Given the description of an element on the screen output the (x, y) to click on. 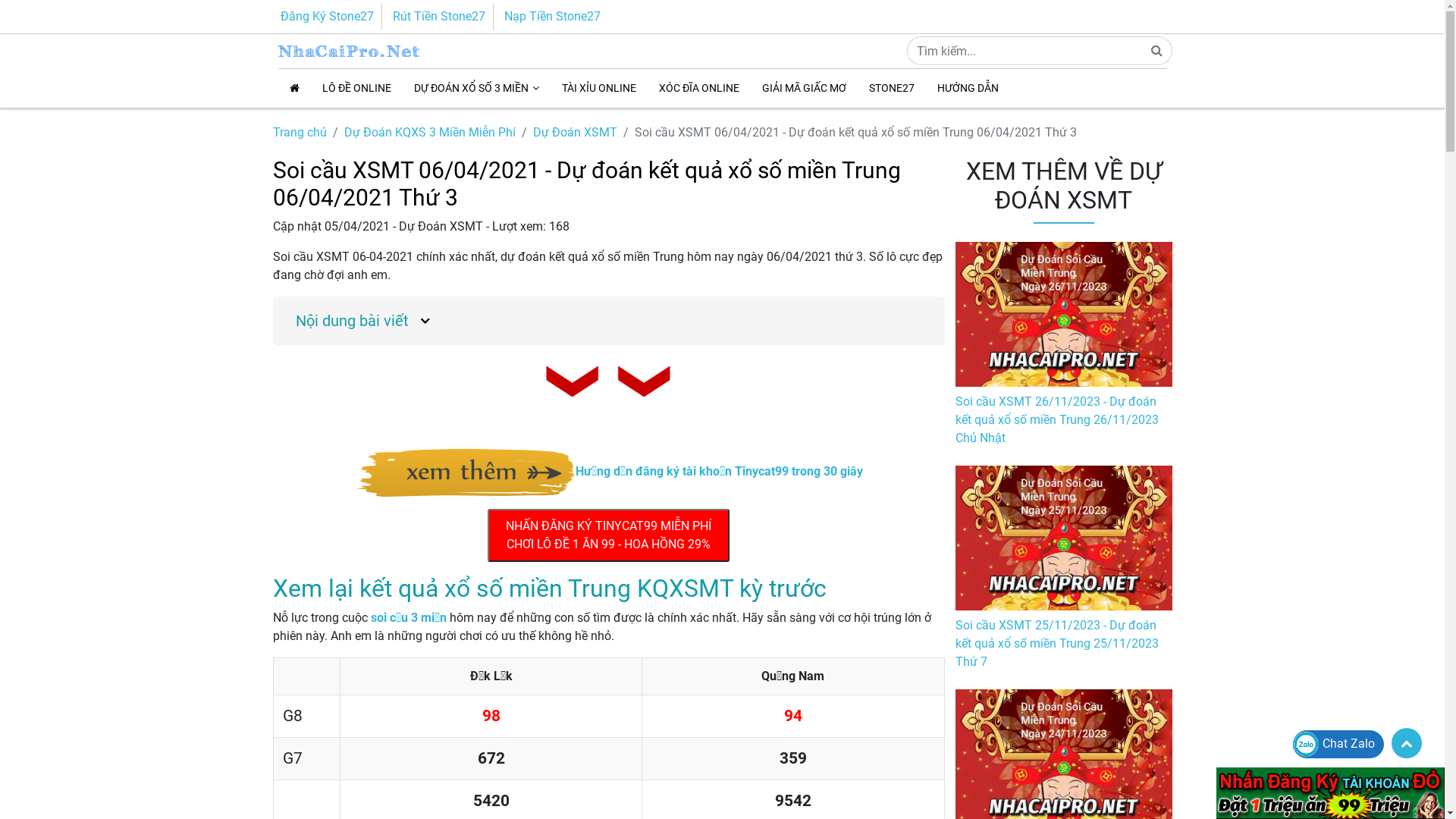
Chat Zalo Element type: text (1333, 743)
nhacaipro.net Element type: hover (381, 50)
STONE27 Element type: text (890, 88)
